Given the description of an element on the screen output the (x, y) to click on. 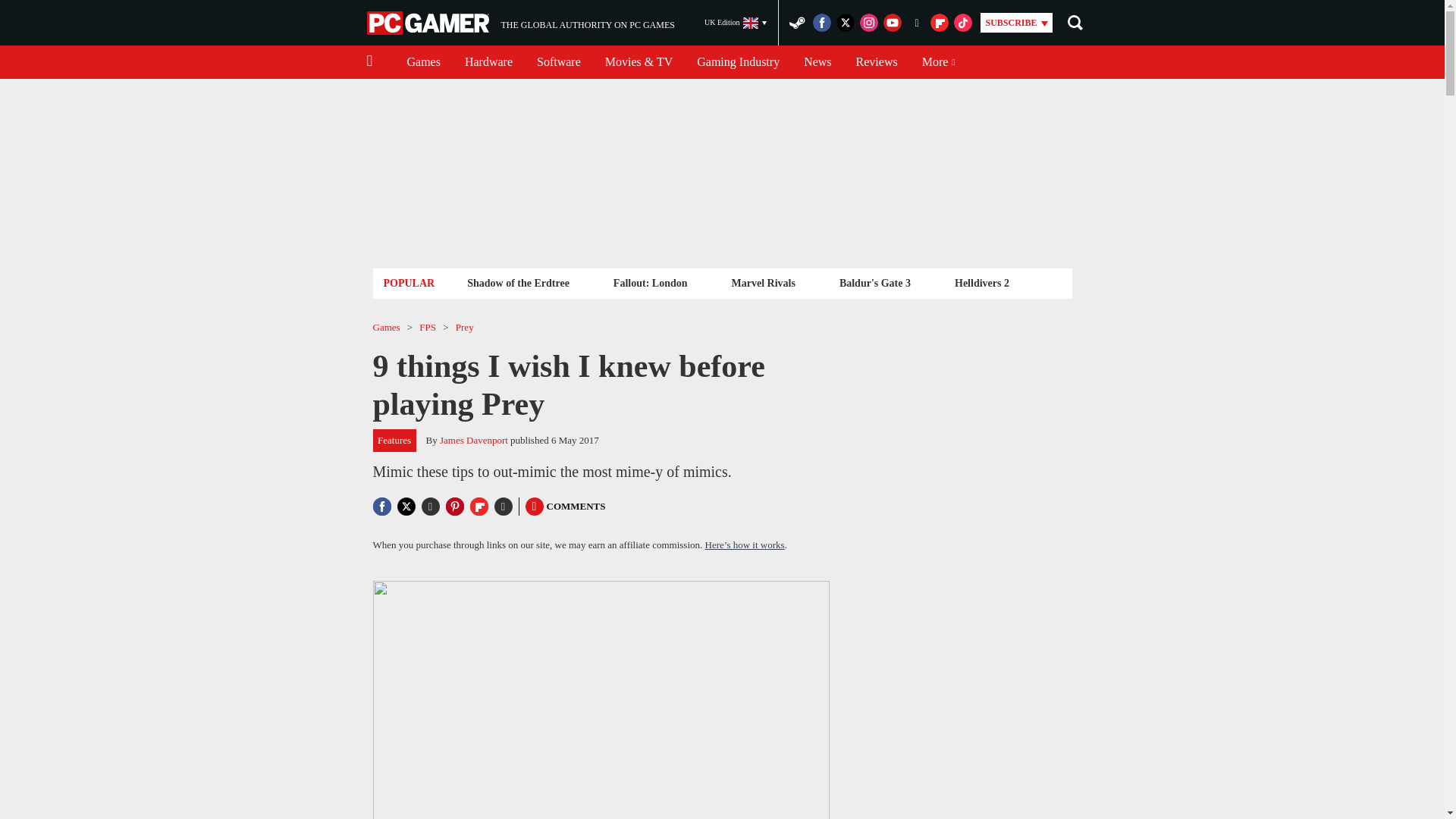
News (817, 61)
Shadow of the Erdtree (518, 282)
Software (558, 61)
Gaming Industry (738, 61)
UK Edition (735, 22)
Games (422, 61)
Reviews (520, 22)
PC Gamer (877, 61)
Hardware (429, 22)
Fallout: London (488, 61)
